Given the description of an element on the screen output the (x, y) to click on. 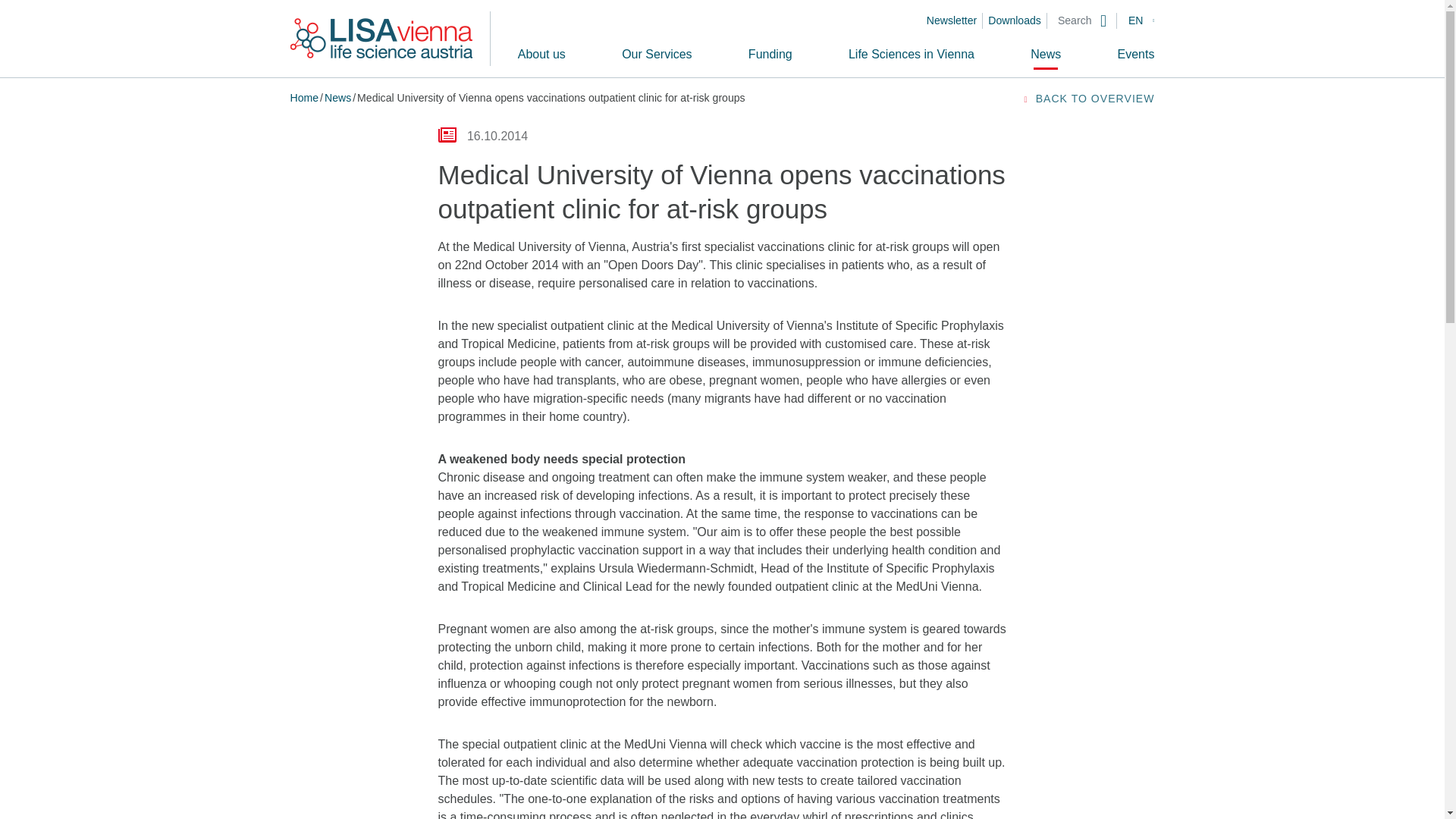
EN (1141, 20)
Events (1136, 54)
Funding (770, 54)
News (337, 97)
About us (542, 54)
BACK TO OVERVIEW (1087, 98)
News (1045, 54)
Funding (770, 54)
Home (303, 97)
Life Sciences in Vienna (911, 54)
Life Sciences in Vienna (911, 54)
Our Services (656, 54)
Downloads (1020, 20)
Our Services (656, 54)
